Given the description of an element on the screen output the (x, y) to click on. 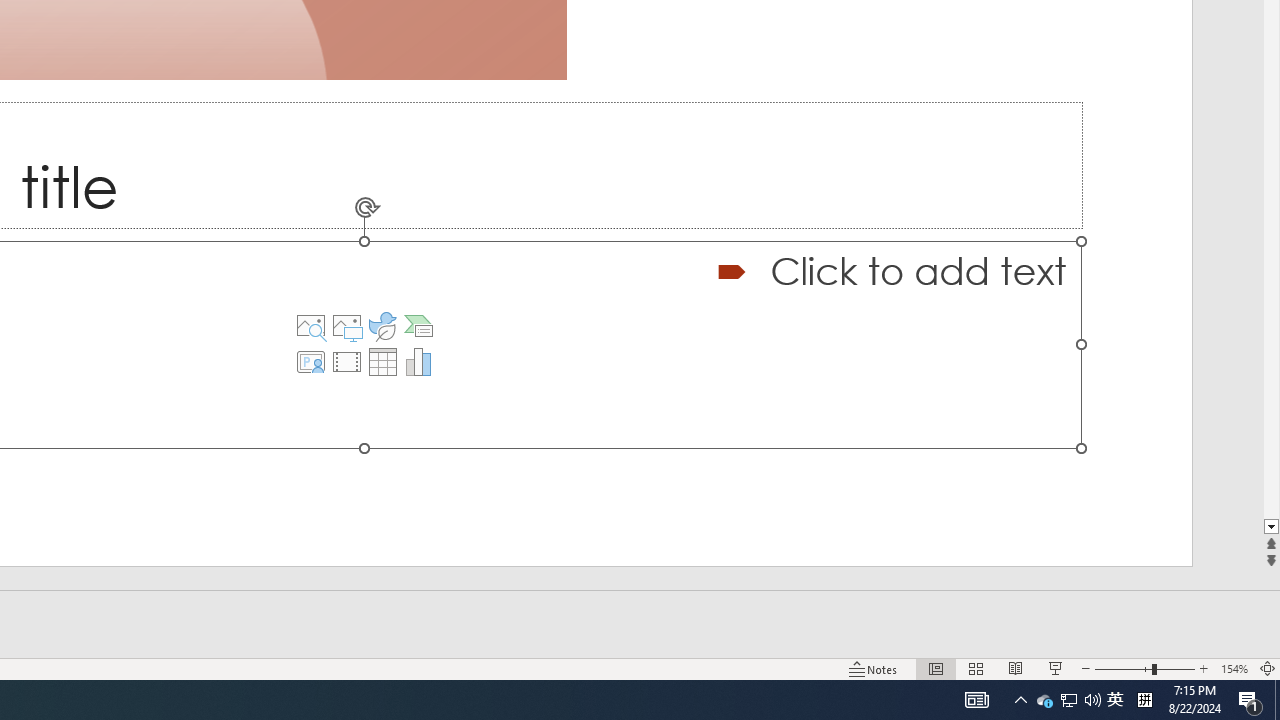
Close up of an olive branch on a sunset (364, 344)
Zoom 154% (1234, 668)
